Given the description of an element on the screen output the (x, y) to click on. 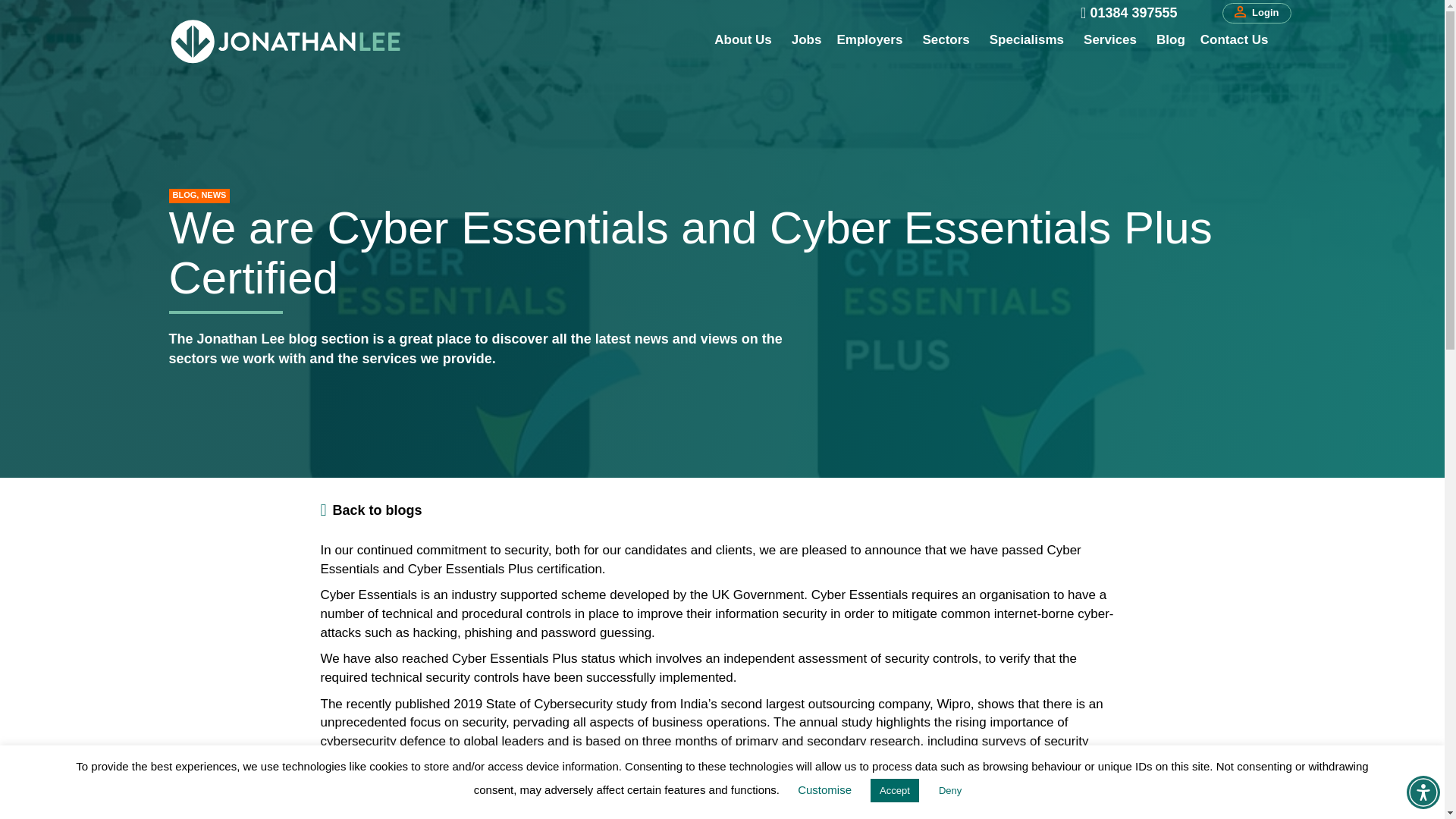
Login (1256, 13)
Accessibility Menu (1422, 792)
01384 397555 (1132, 12)
Employers (871, 40)
About Us (745, 40)
Jobs (806, 40)
Sectors (947, 40)
Jonathan-Lee Logo (284, 41)
